Given the description of an element on the screen output the (x, y) to click on. 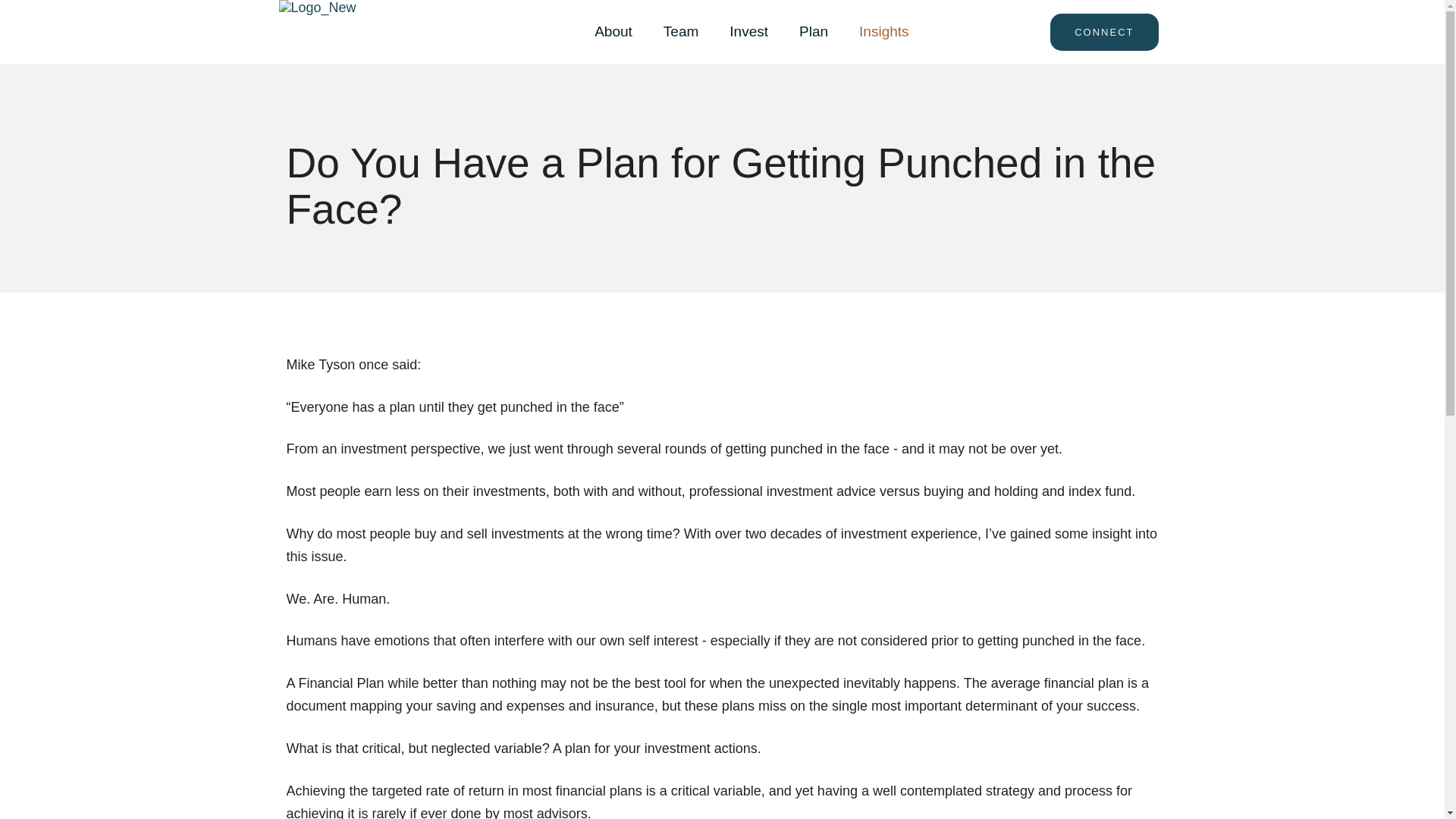
Team (680, 32)
Plan (813, 32)
Invest (748, 32)
Insights (883, 32)
About (613, 32)
CONNECT (1103, 31)
